Given the description of an element on the screen output the (x, y) to click on. 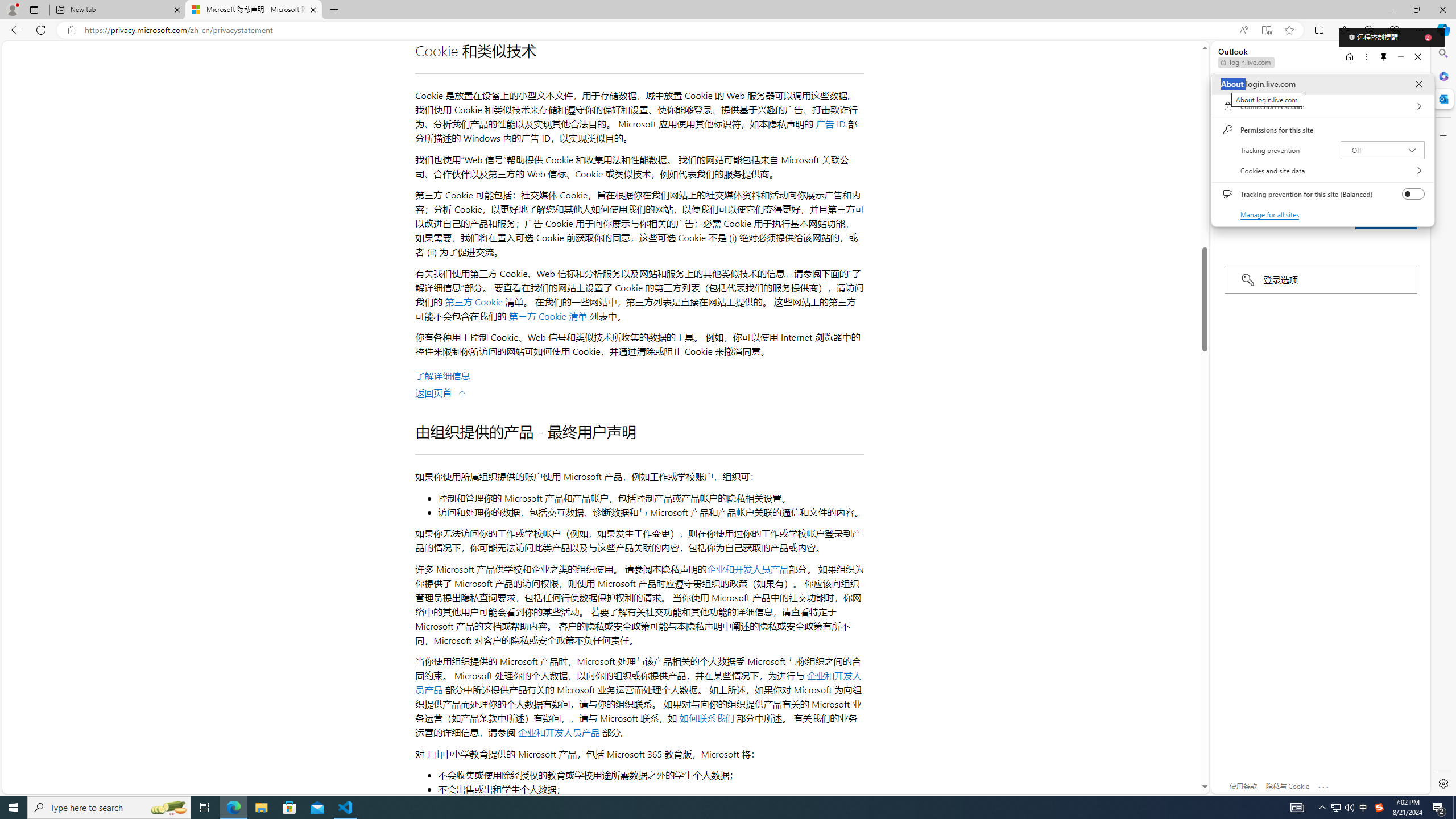
About login.live.com (1418, 83)
Running applications (707, 807)
